Given the description of an element on the screen output the (x, y) to click on. 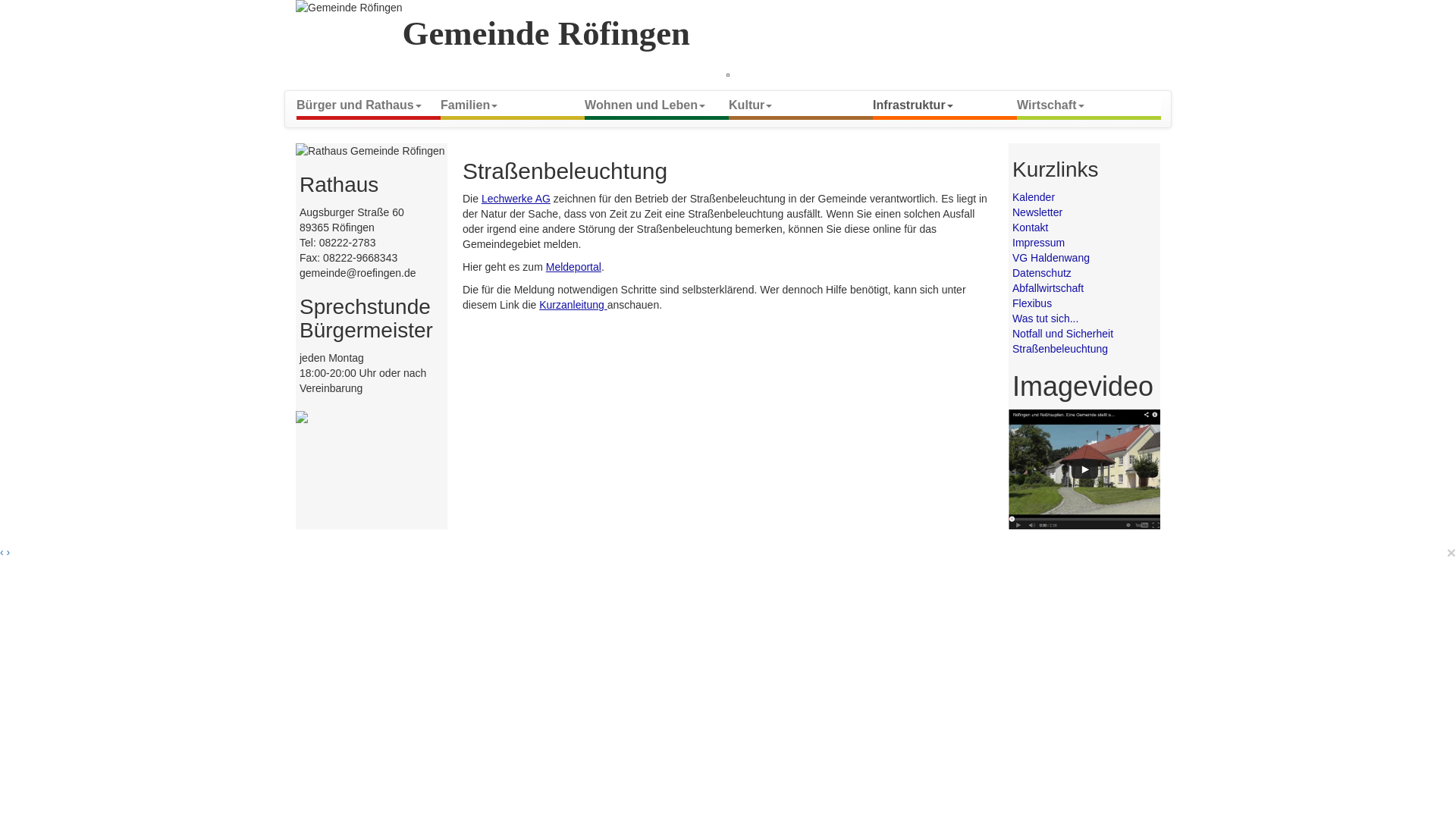
Newsletter Element type: text (1037, 212)
Impressum Element type: text (1038, 242)
Infrastruktur Element type: text (944, 103)
Lechwerke AG Element type: text (515, 198)
Abfallwirtschaft Element type: text (1047, 288)
Was tut sich... Element type: text (1045, 318)
Wirtschaft Element type: text (1088, 103)
Kalender Element type: text (1033, 197)
Kultur Element type: text (800, 103)
Notfall und Sicherheit Element type: text (1062, 333)
Datenschutz Element type: text (1041, 272)
VG Haldenwang Element type: text (1050, 257)
Wohnen und Leben Element type: text (656, 103)
Familien Element type: text (512, 103)
Kurzanleitung Element type: text (573, 304)
Kontakt Element type: text (1030, 227)
Meldeportal Element type: text (573, 266)
Flexibus Element type: text (1031, 303)
